Given the description of an element on the screen output the (x, y) to click on. 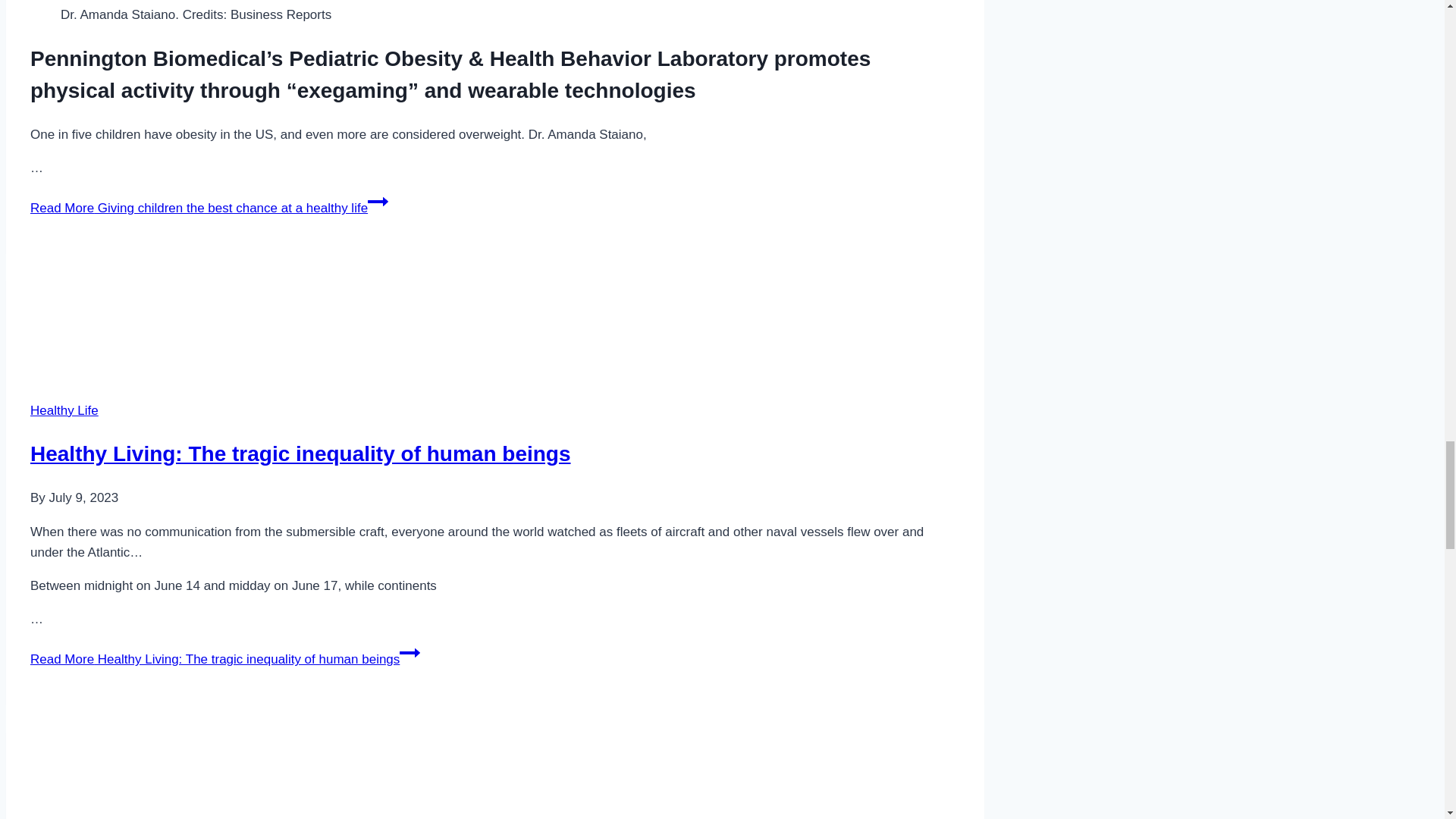
Continue (409, 652)
Healthy Life (64, 410)
Healthy Living: The tragic inequality of human beings (300, 454)
Continue (378, 201)
Healthy Living: The tragic inequality of human beings (296, 313)
Empower your teens to make healthy life choices (296, 763)
